Given the description of an element on the screen output the (x, y) to click on. 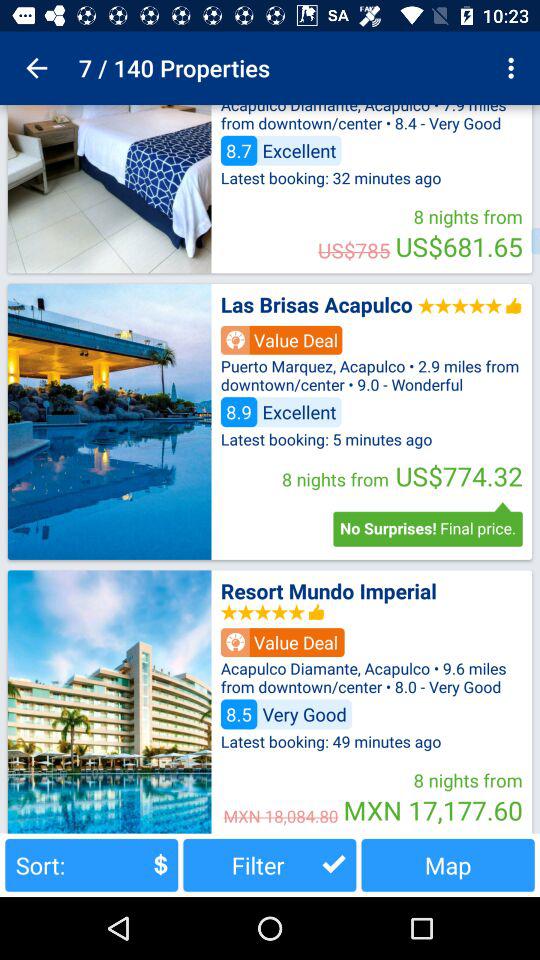
press the item next to 7 / 140 properties (36, 68)
